Given the description of an element on the screen output the (x, y) to click on. 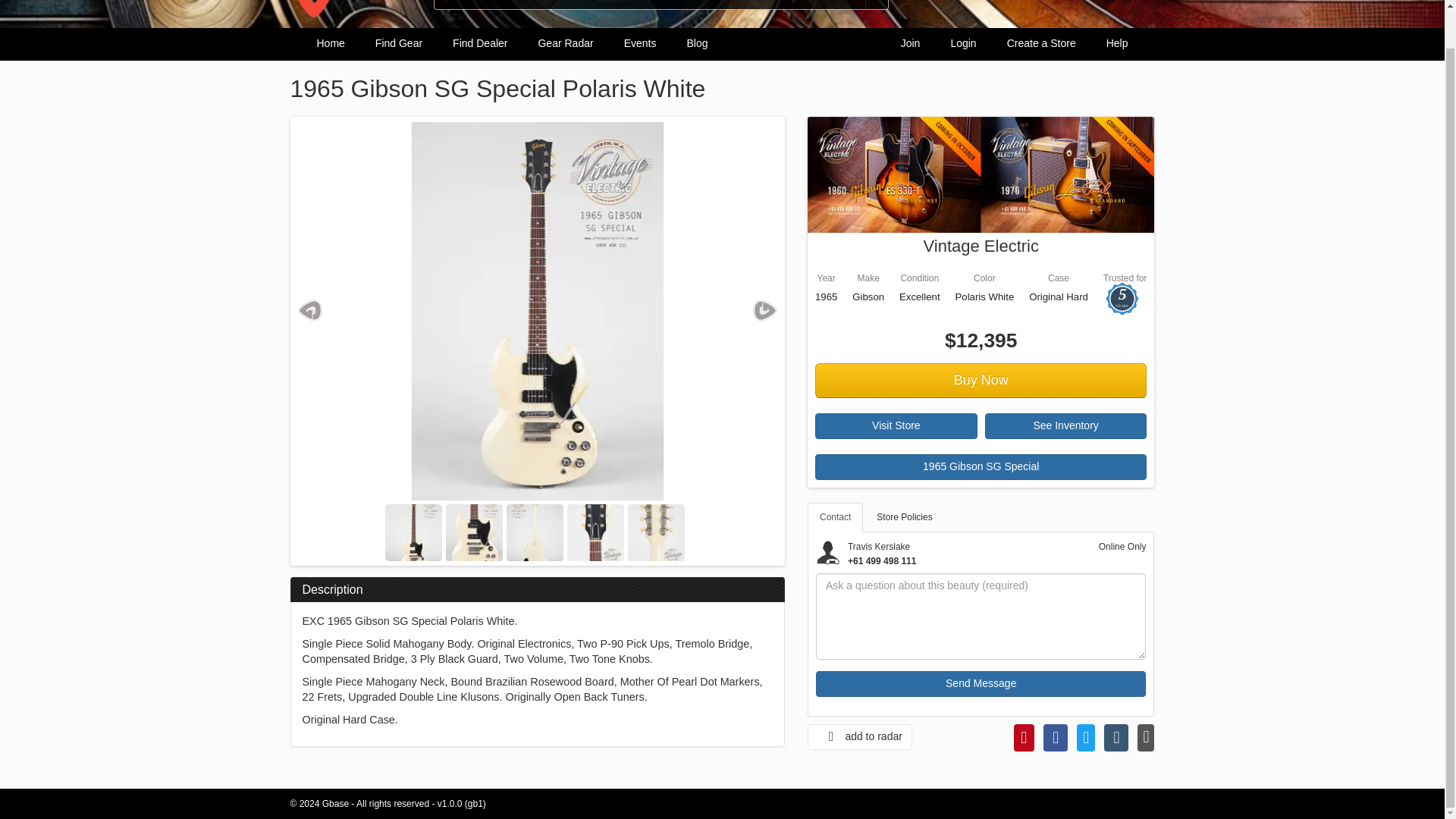
Gear Radar (565, 43)
Find Dealer (480, 43)
Login (962, 43)
Create a Store (1040, 43)
Send Message (981, 683)
Blog (696, 43)
Visit Store (895, 425)
Join (910, 43)
Buy Now (981, 380)
Contact (835, 517)
